Given the description of an element on the screen output the (x, y) to click on. 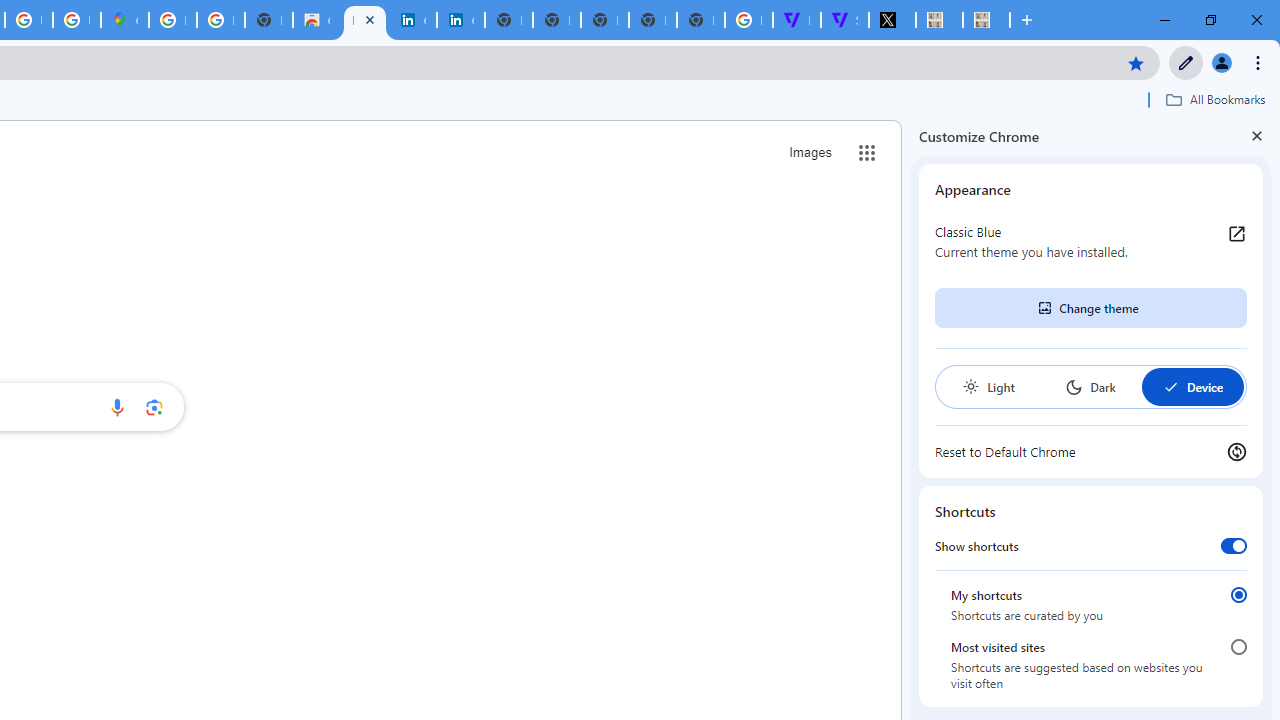
Miley Cyrus (@MileyCyrus) / X (892, 20)
Chrome Web Store (316, 20)
